Given the description of an element on the screen output the (x, y) to click on. 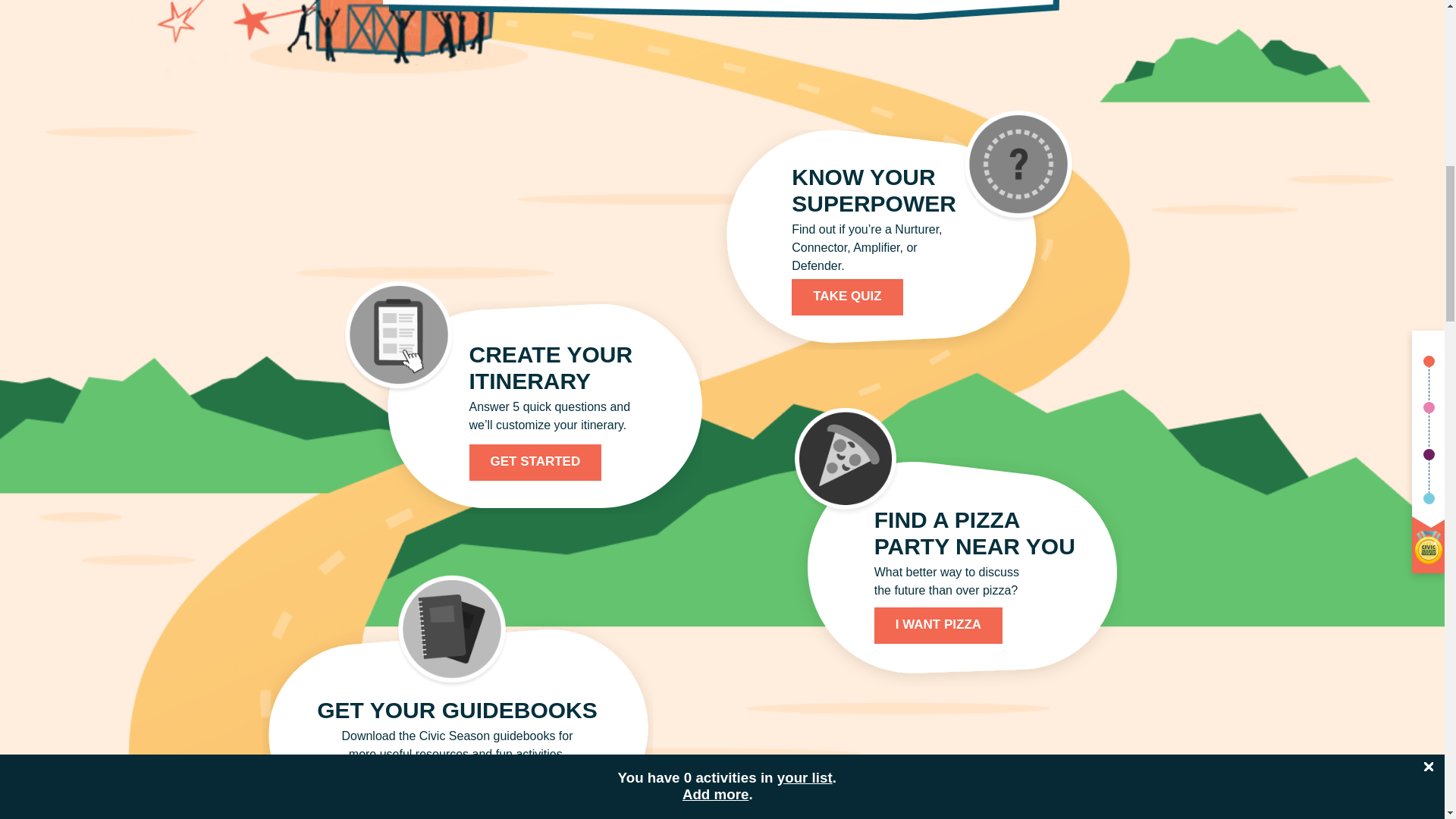
I WANT PIZZA (939, 624)
GET STARTED (535, 462)
TAKE QUIZ (847, 297)
